Given the description of an element on the screen output the (x, y) to click on. 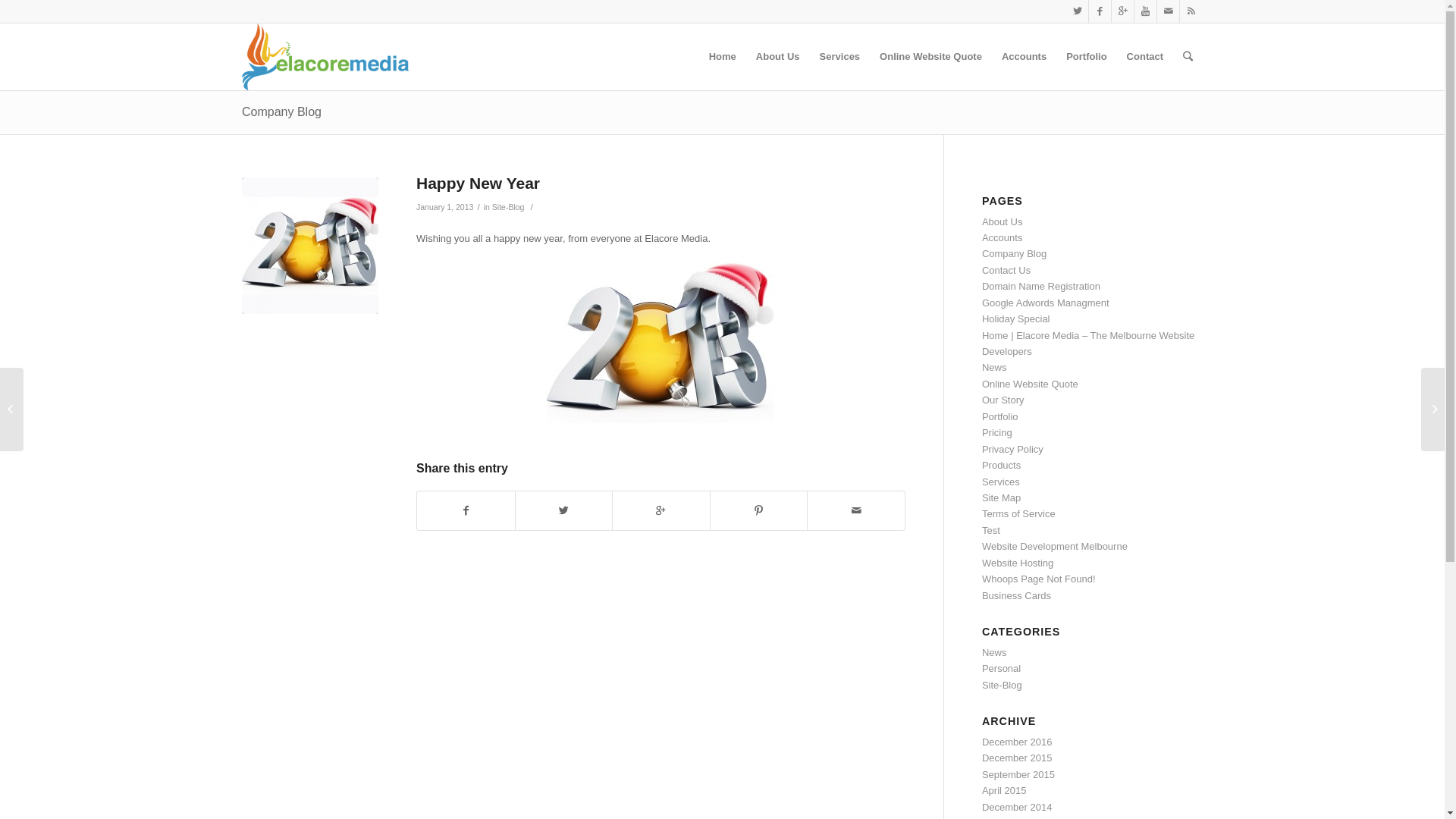
News Element type: text (994, 367)
Business Cards Element type: text (1016, 595)
Youtube Element type: hover (1145, 11)
About Us Element type: text (777, 56)
Mail Element type: hover (1168, 11)
Accounts Element type: text (1002, 237)
Company Blog Element type: text (1014, 253)
Happy New Year Element type: hover (309, 245)
Contact Element type: text (1145, 56)
Website Hosting Element type: text (1017, 562)
Terms of Service Element type: text (1018, 513)
Services Element type: text (1000, 481)
December 2014 Element type: text (1017, 806)
September 2015 Element type: text (1018, 774)
December 2015 Element type: text (1017, 757)
Personal Element type: text (1001, 668)
December 2016 Element type: text (1017, 741)
Pricing Element type: text (997, 432)
Services Element type: text (839, 56)
Products Element type: text (1001, 464)
Portfolio Element type: text (1000, 416)
Twitter Element type: hover (1077, 11)
Accounts Element type: text (1023, 56)
Site-Blog Element type: text (1002, 684)
Happy New Year Element type: text (477, 182)
Site-Blog Element type: text (508, 206)
Domain Name Registration Element type: text (1041, 285)
Google Adwords Managment Element type: text (1045, 302)
Company Blog Element type: text (281, 111)
About Us Element type: text (1002, 221)
Online Website Quote Element type: text (930, 56)
News Element type: text (994, 652)
Happy-New-Year-2013 Element type: hover (660, 342)
Contact Us Element type: text (1006, 270)
Home Element type: text (722, 56)
Gplus Element type: hover (1122, 11)
Facebook Element type: hover (1099, 11)
April 2015 Element type: text (1004, 790)
Privacy Policy Element type: text (1012, 449)
Our Story Element type: text (1003, 399)
Website Development Melbourne Element type: text (1054, 546)
Whoops Page Not Found! Element type: text (1038, 578)
Rss Element type: hover (1190, 11)
Test Element type: text (991, 530)
Holiday Special Element type: text (1016, 318)
Online Website Quote Element type: text (1030, 383)
Site Map Element type: text (1001, 497)
Portfolio Element type: text (1086, 56)
